Given the description of an element on the screen output the (x, y) to click on. 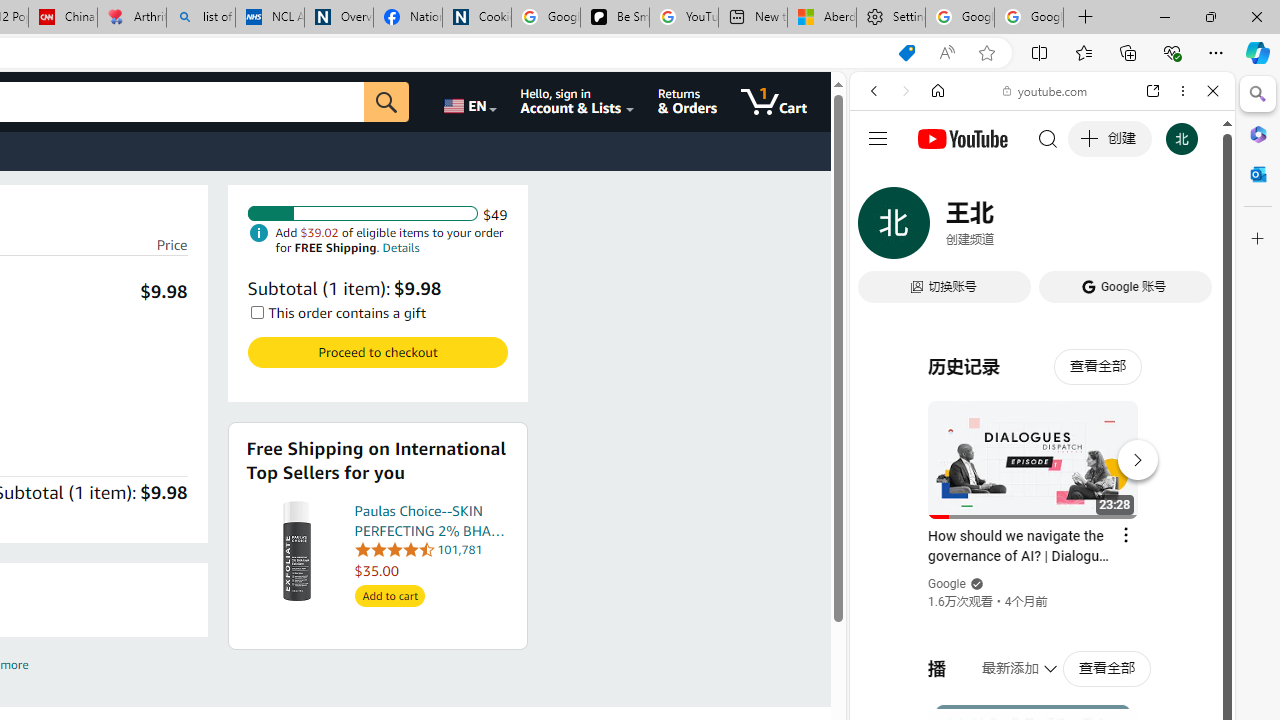
Proceed to checkout Check out Amazon Cart  (377, 352)
